Given the description of an element on the screen output the (x, y) to click on. 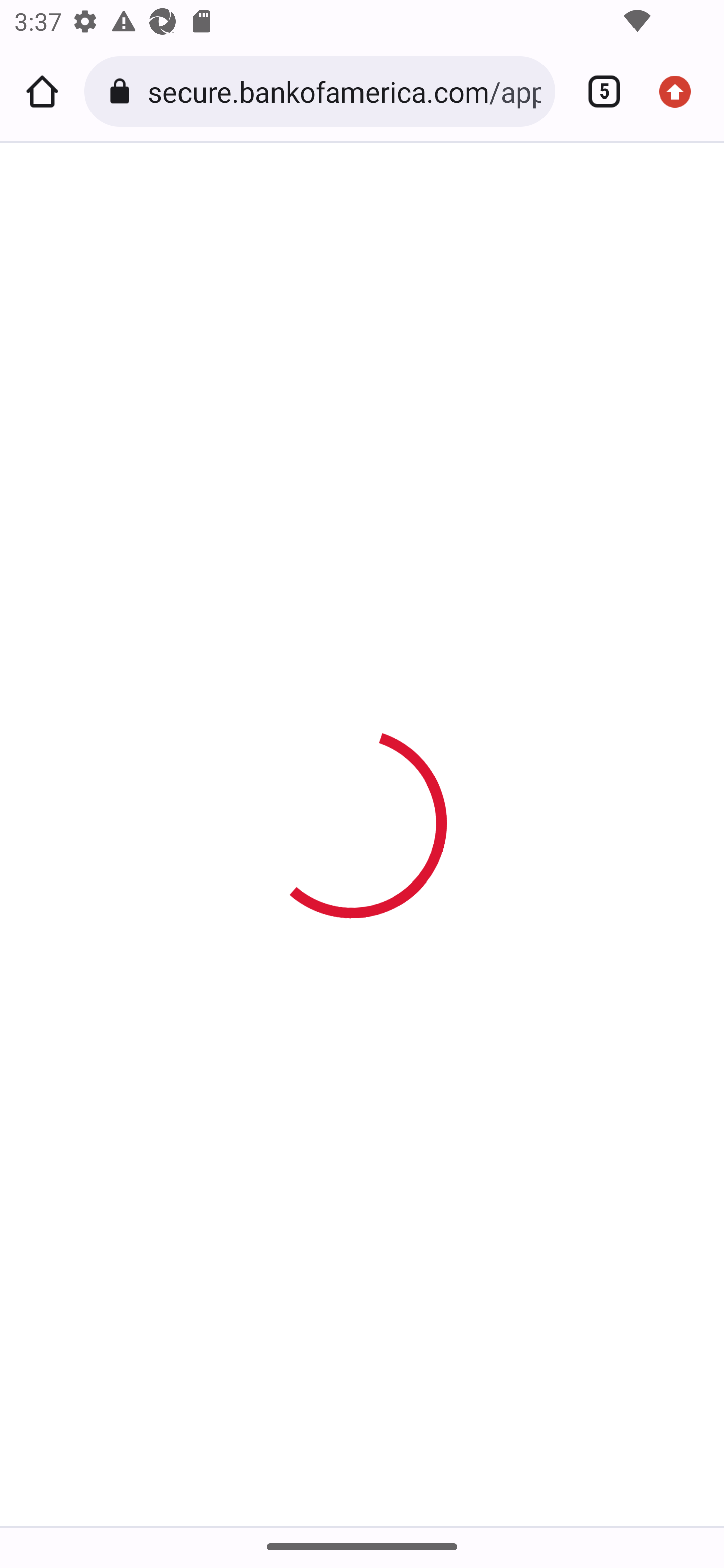
Home (42, 91)
Connection is secure (122, 91)
Switch or close tabs (597, 91)
Update available. More options (681, 91)
